Given the description of an element on the screen output the (x, y) to click on. 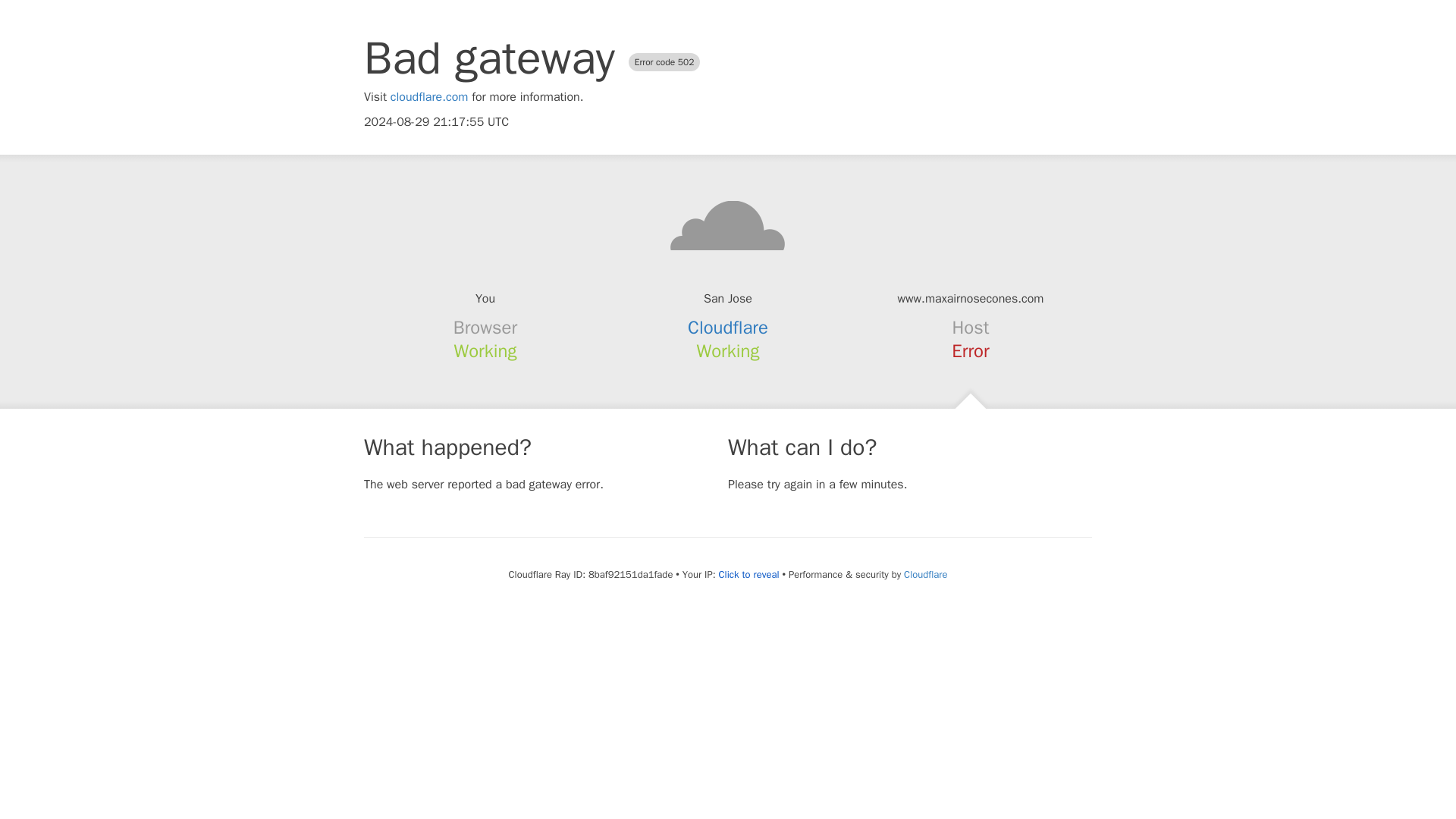
Cloudflare (925, 574)
Click to reveal (748, 574)
Cloudflare (727, 327)
cloudflare.com (429, 96)
